Given the description of an element on the screen output the (x, y) to click on. 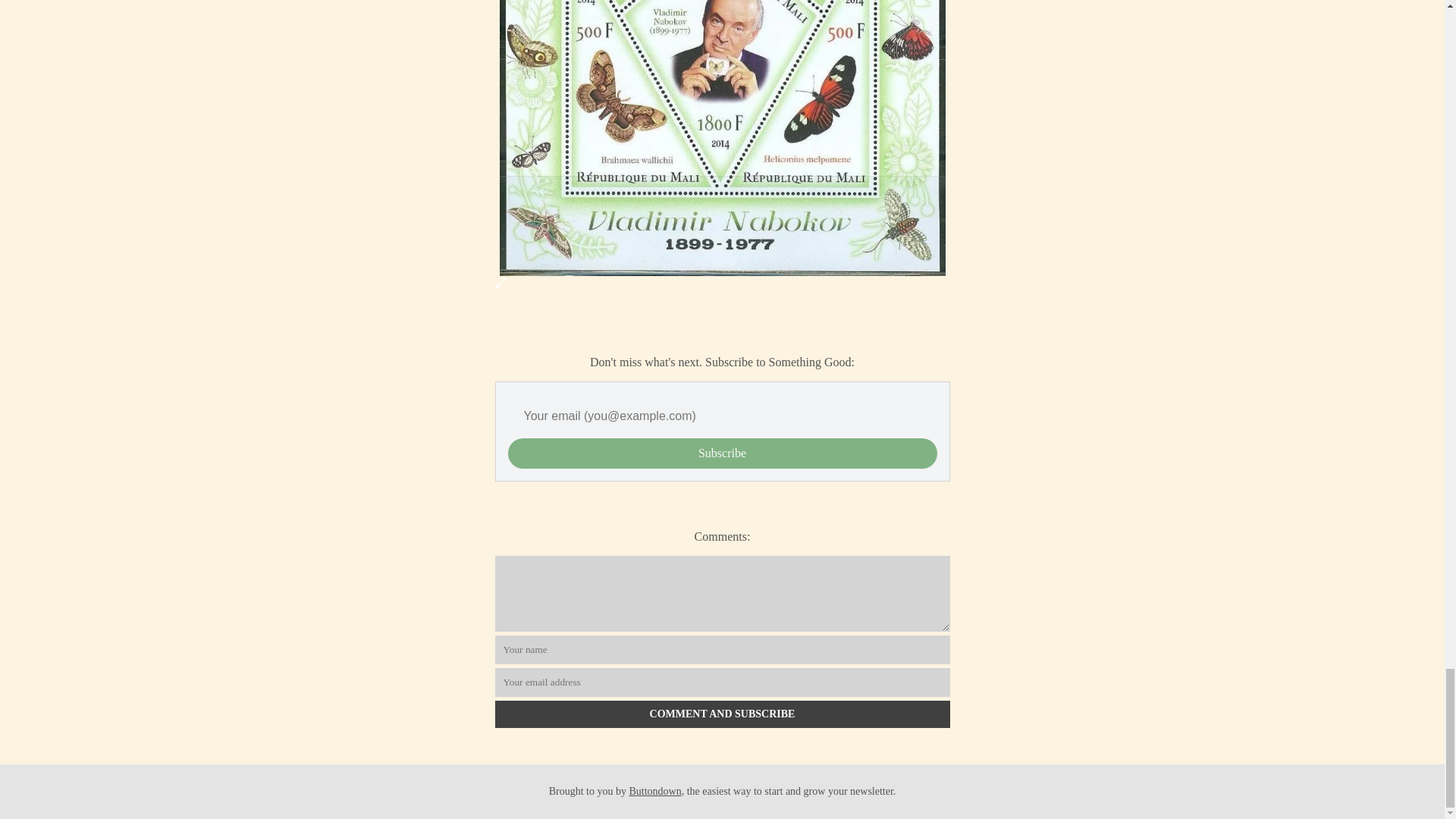
COMMENT AND SUBSCRIBE (722, 714)
Buttondown (654, 790)
